Given the description of an element on the screen output the (x, y) to click on. 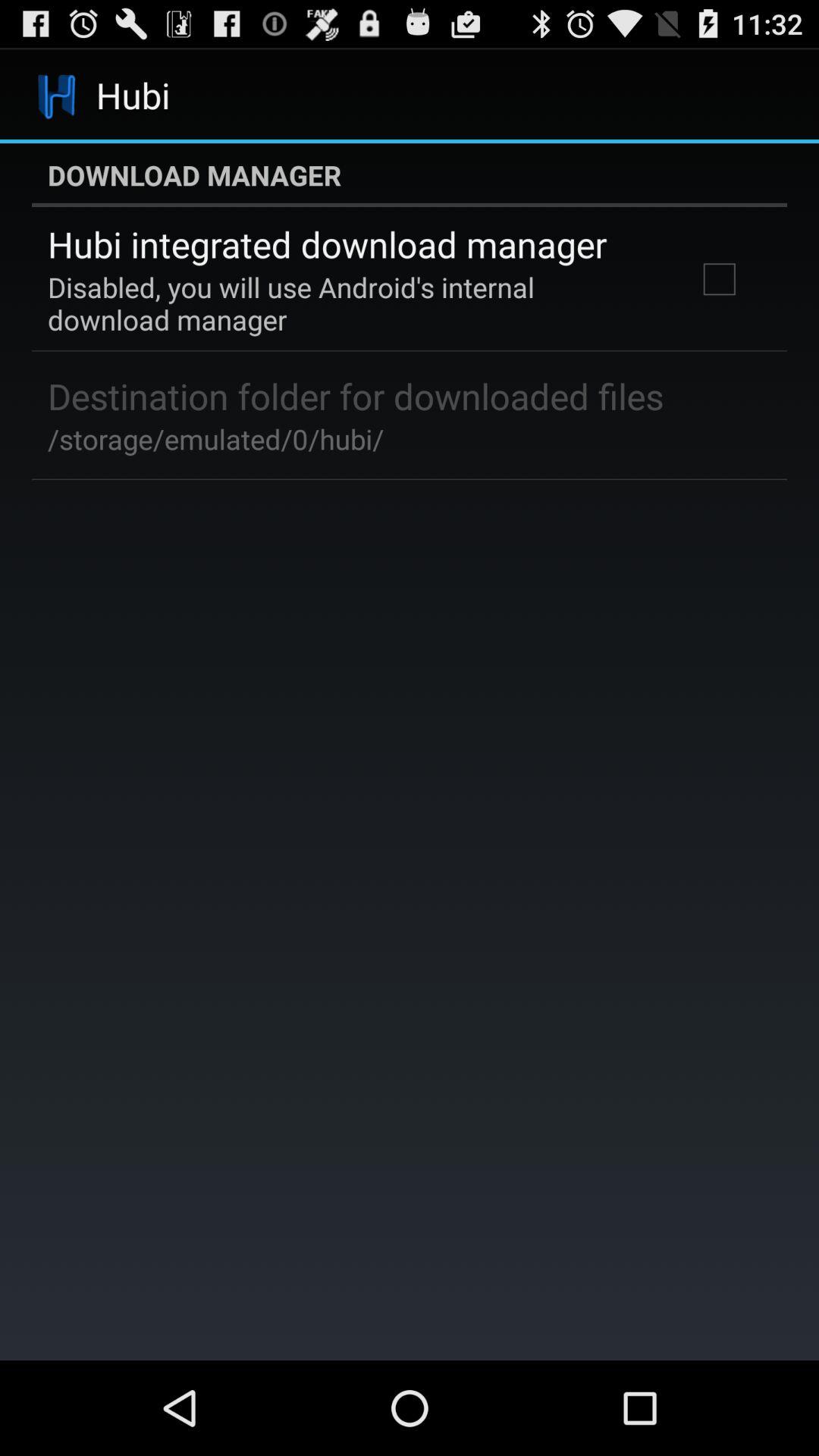
jump to destination folder for (355, 395)
